Given the description of an element on the screen output the (x, y) to click on. 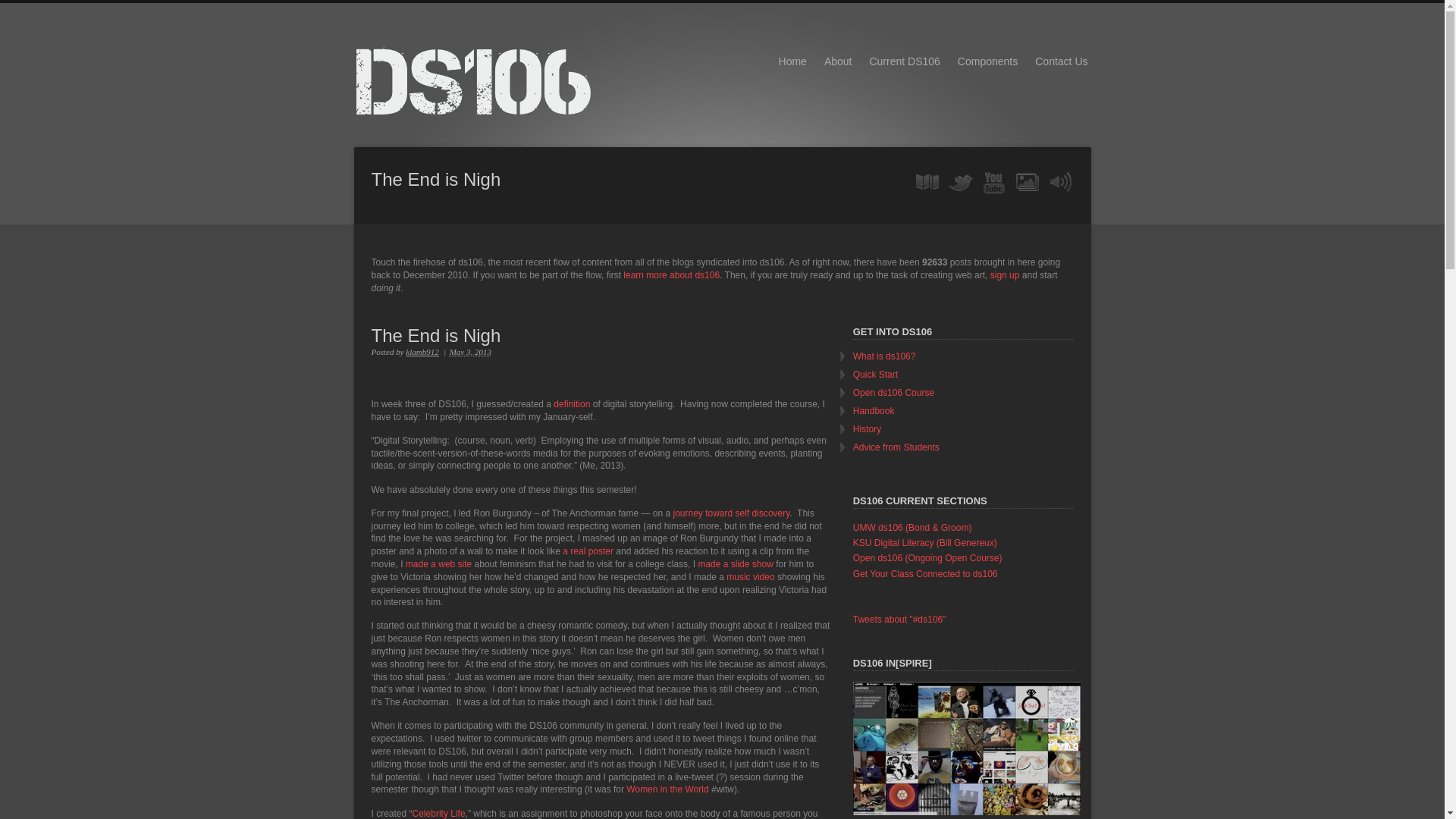
Home (792, 61)
learn more about ds106 (671, 275)
Components (987, 61)
The End is Nigh (601, 335)
Current DS106 (903, 61)
sign up (1005, 275)
Contact Us (1061, 61)
2013-05-03T00:31:52-04:00 (470, 351)
About (837, 61)
Posts by klamb912 (422, 351)
